Given the description of an element on the screen output the (x, y) to click on. 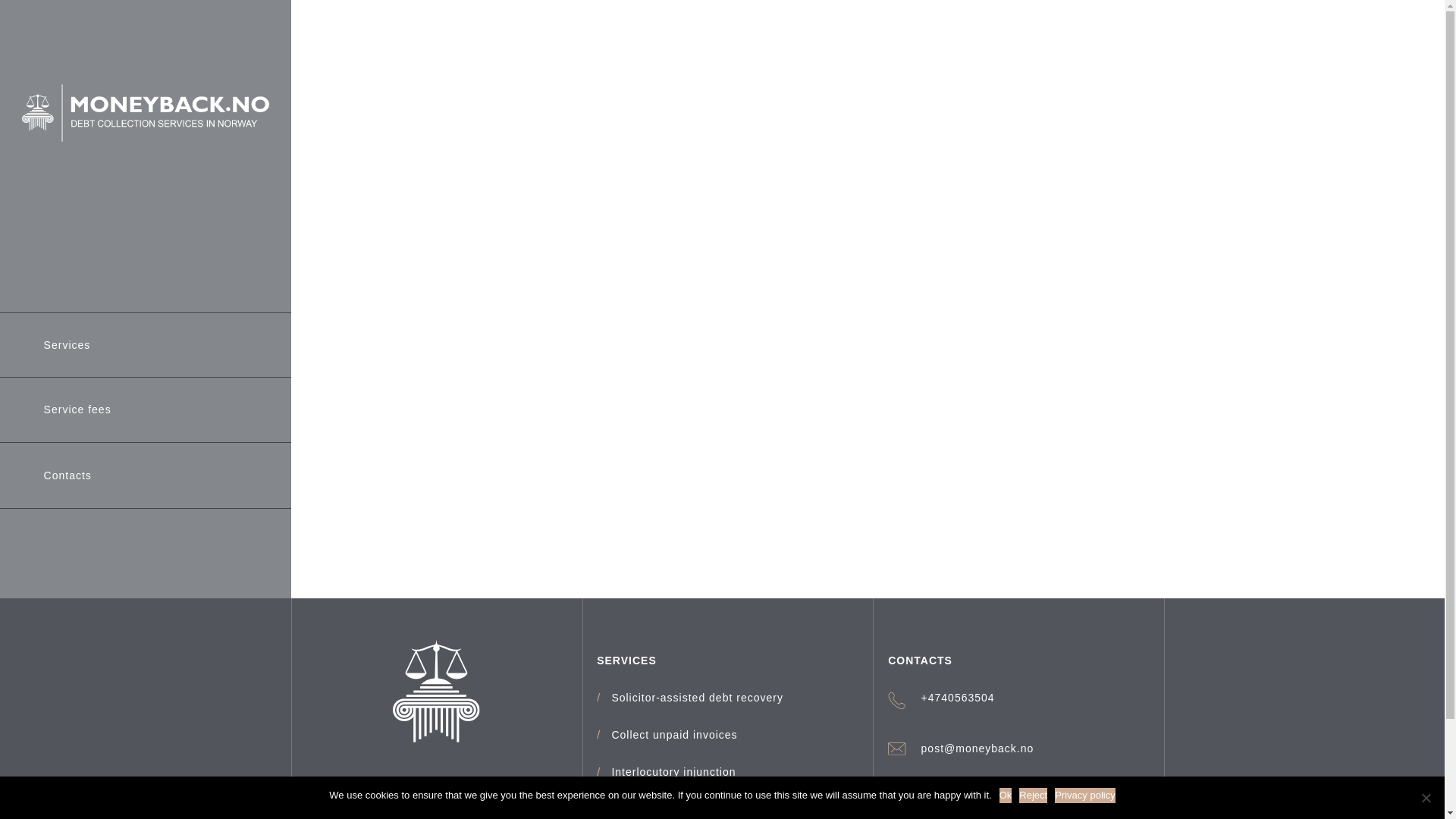
Solicitor-assisted debt recovery (697, 697)
Collect unpaid invoices (673, 735)
Reject (1425, 797)
Services (66, 344)
RU (87, 705)
Interlocutory injunction (673, 771)
Privacy policy (1084, 795)
Contacts (67, 475)
EN (203, 705)
LT (29, 705)
Service fees (77, 409)
NO (145, 705)
Reject (1032, 795)
omerv (242, 579)
